Given the description of an element on the screen output the (x, y) to click on. 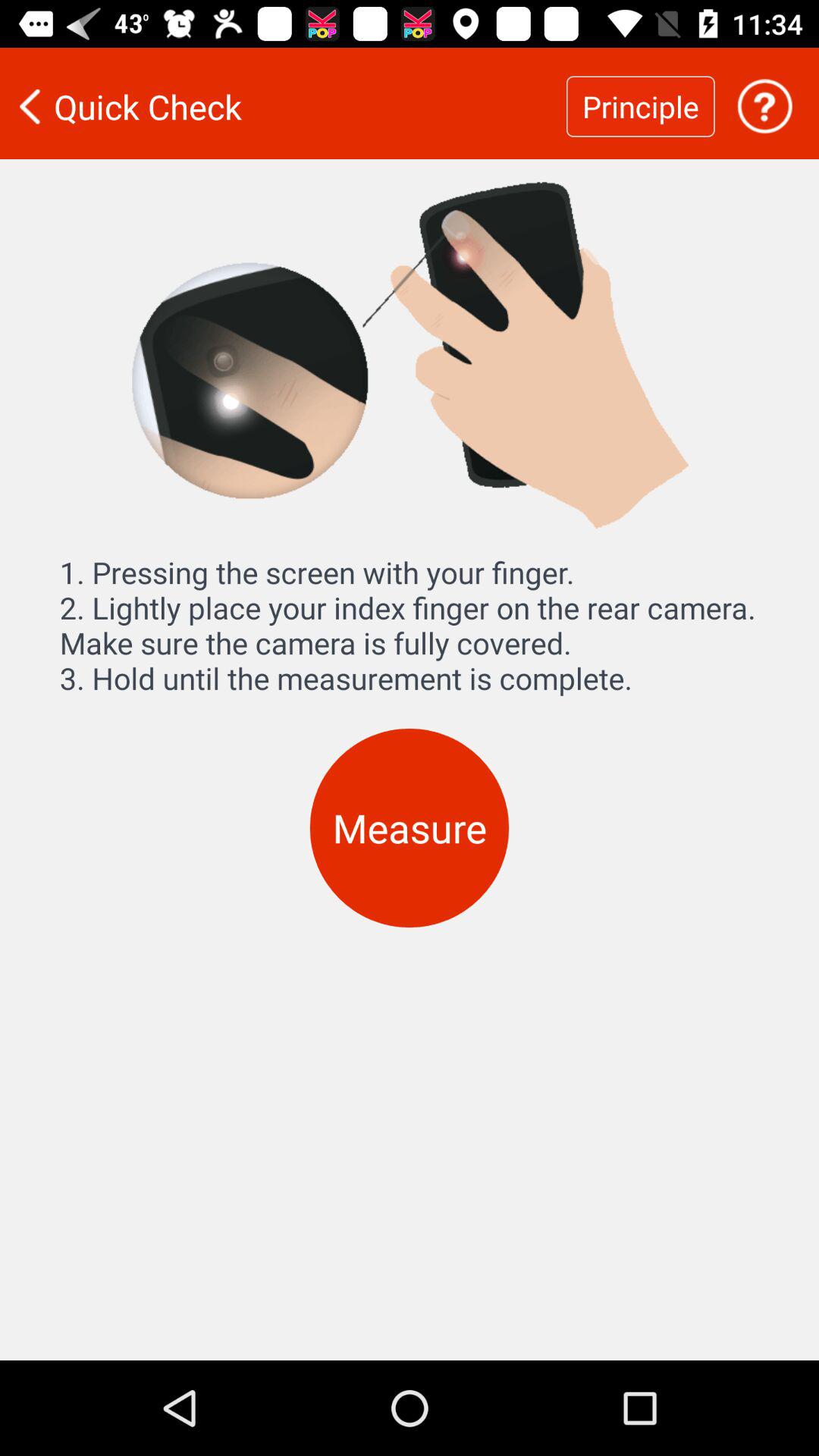
launch quick check (283, 106)
